Given the description of an element on the screen output the (x, y) to click on. 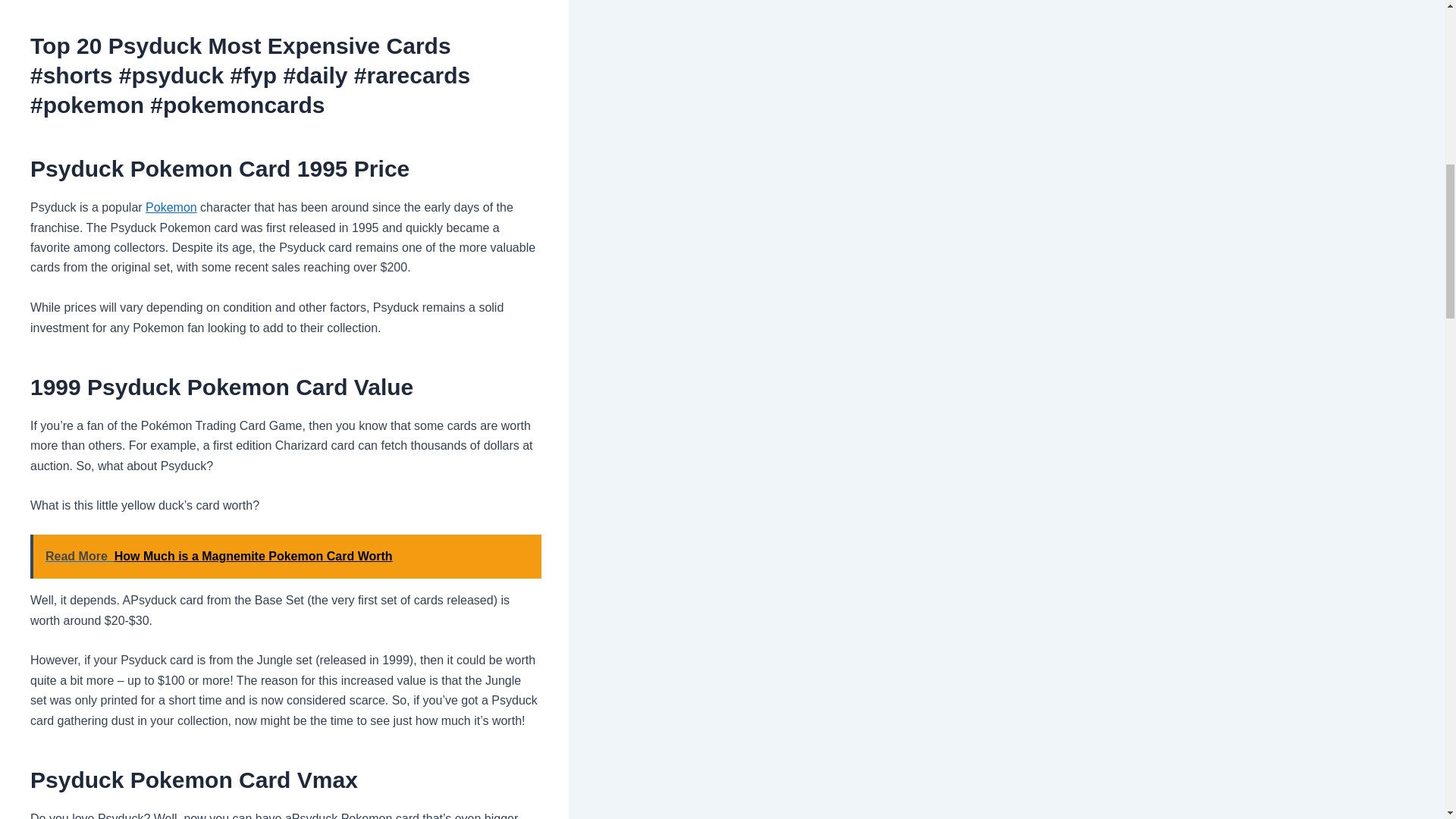
Pokemon (170, 206)
Read More  How Much is a Magnemite Pokemon Card Worth (285, 556)
Pokemon (170, 206)
